Given the description of an element on the screen output the (x, y) to click on. 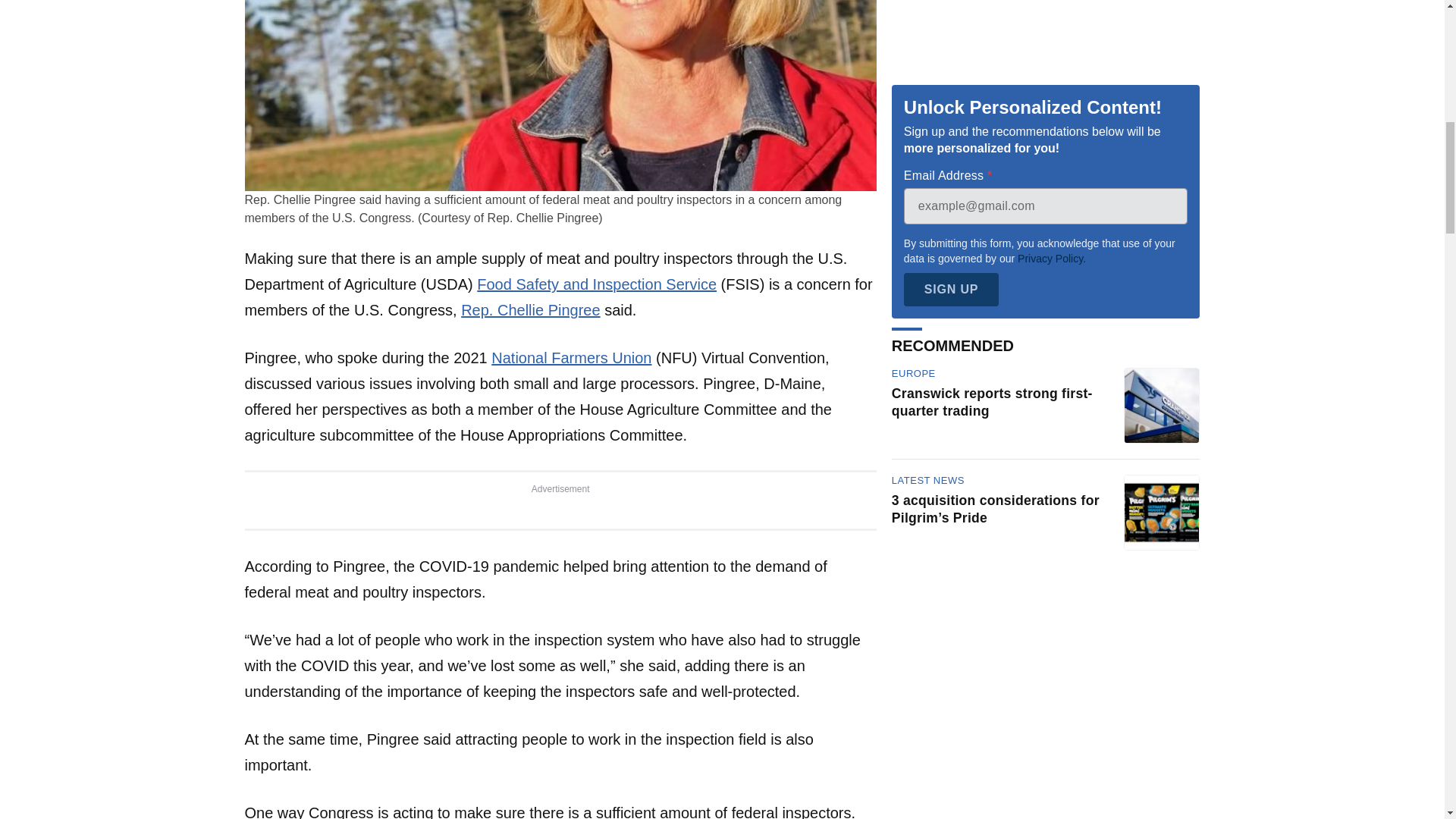
Latest News (927, 238)
